Given the description of an element on the screen output the (x, y) to click on. 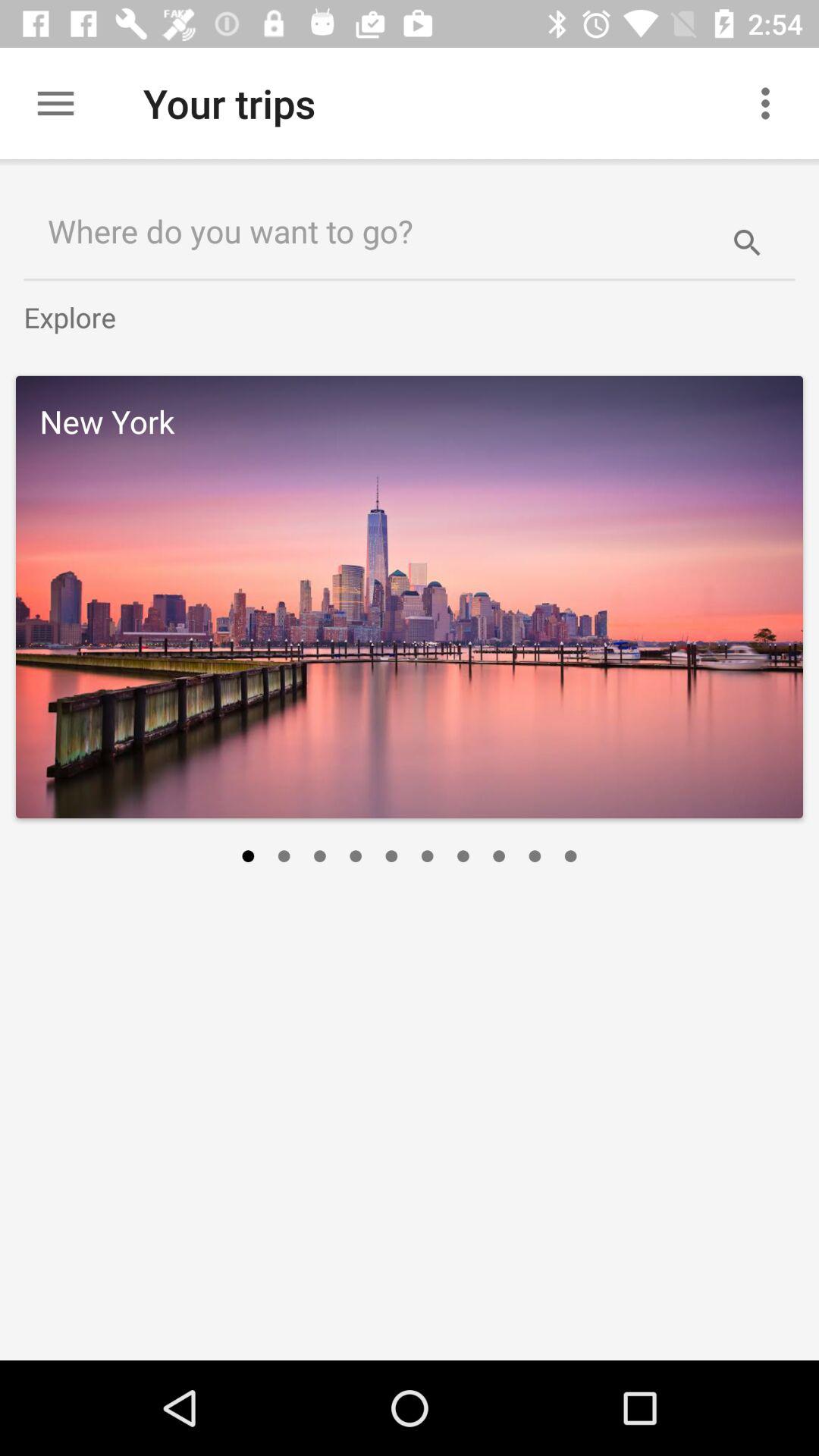
launch the where do you item (361, 230)
